Given the description of an element on the screen output the (x, y) to click on. 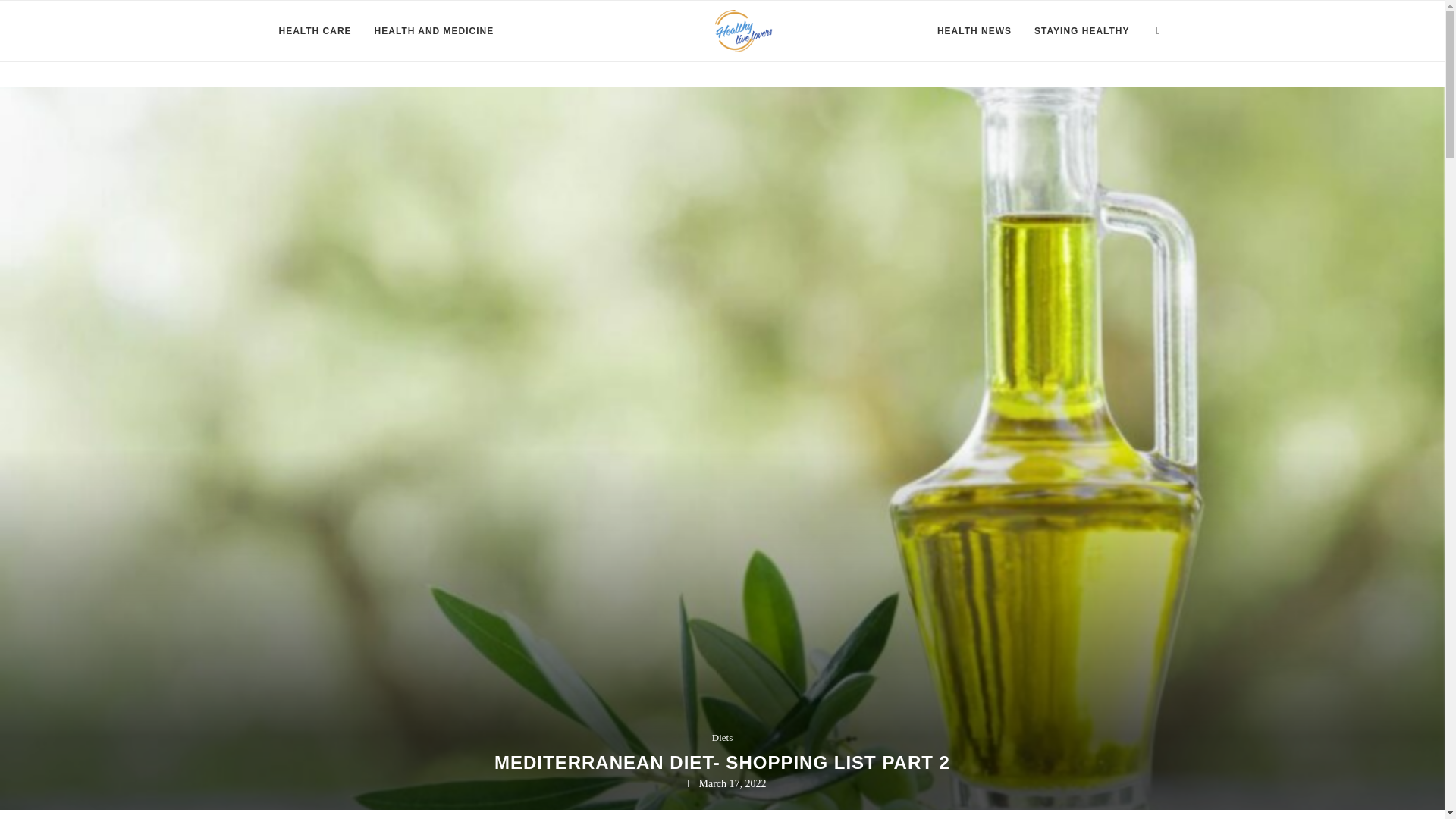
Diets (721, 737)
HEALTH CARE (315, 30)
HEALTH AND MEDICINE (434, 30)
STAYING HEALTHY (1081, 30)
HEALTH NEWS (974, 30)
